Given the description of an element on the screen output the (x, y) to click on. 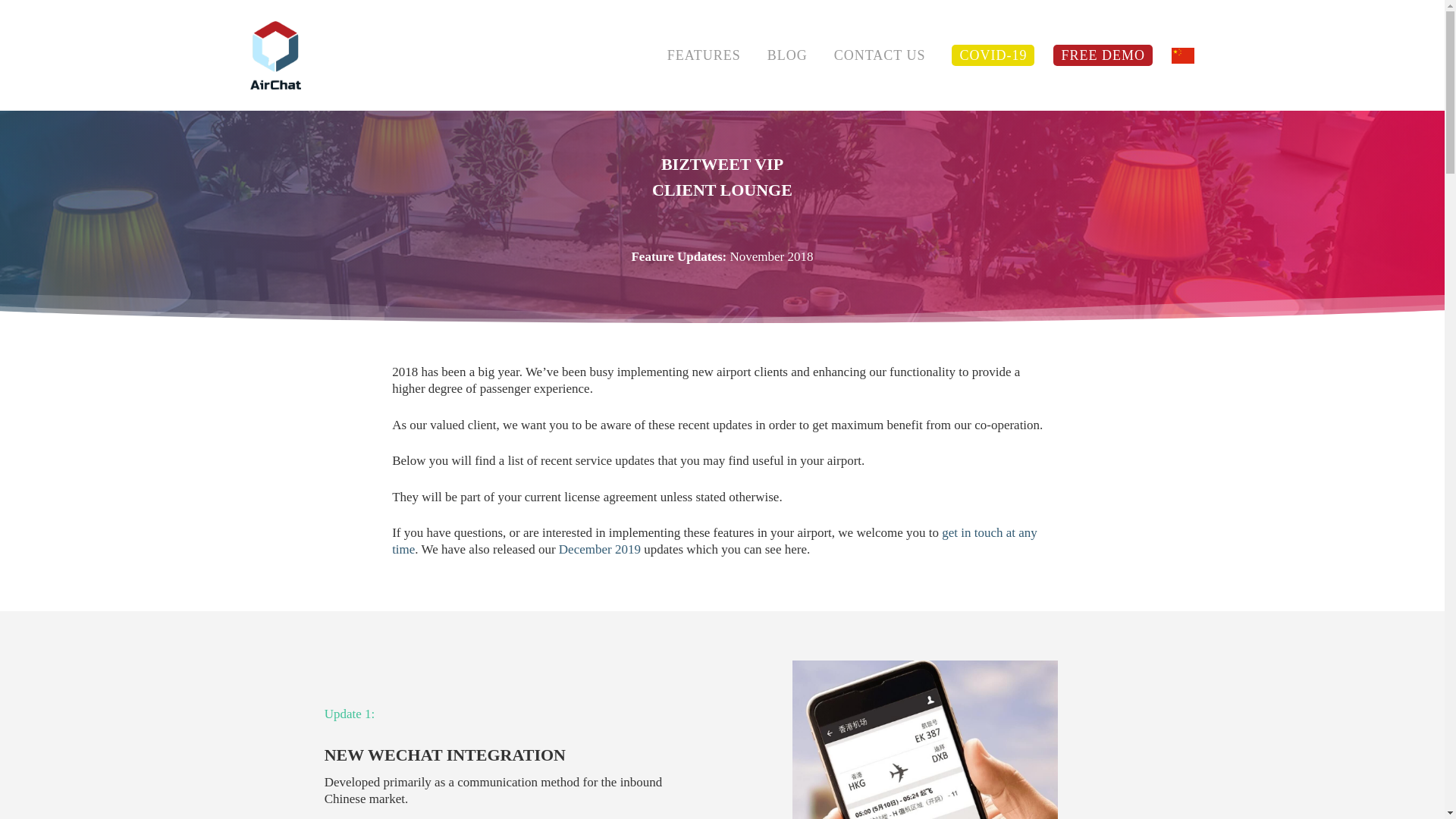
BLOG (787, 55)
FEATURES (703, 55)
get in touch at any time (713, 560)
CONTACT US (880, 55)
December 2019 (599, 568)
COVID-19 (992, 55)
FREE DEMO (1102, 55)
